Given the description of an element on the screen output the (x, y) to click on. 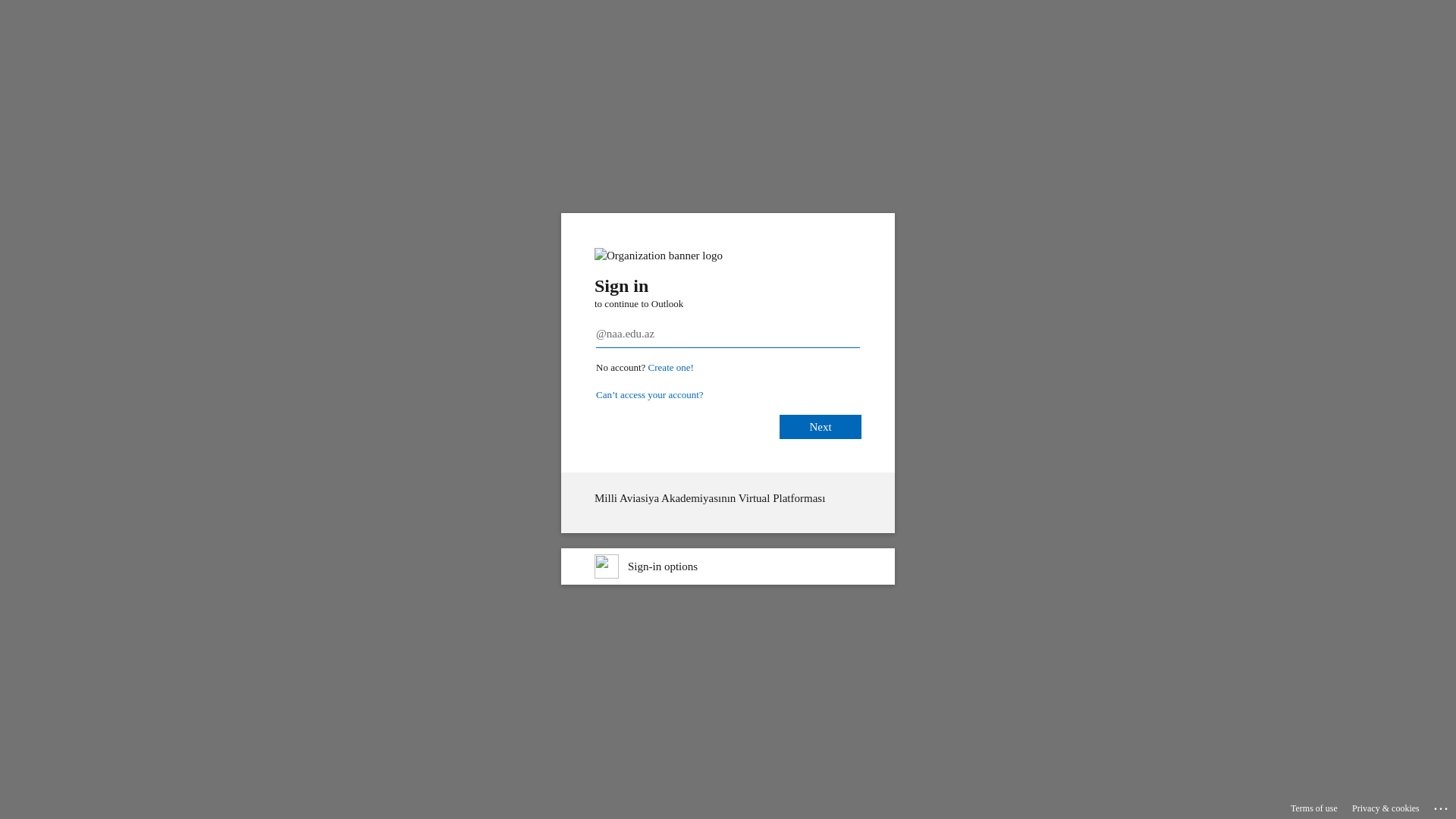
... Element type: text (1441, 805)
Next Element type: text (820, 426)
Create one! Element type: text (670, 367)
